Given the description of an element on the screen output the (x, y) to click on. 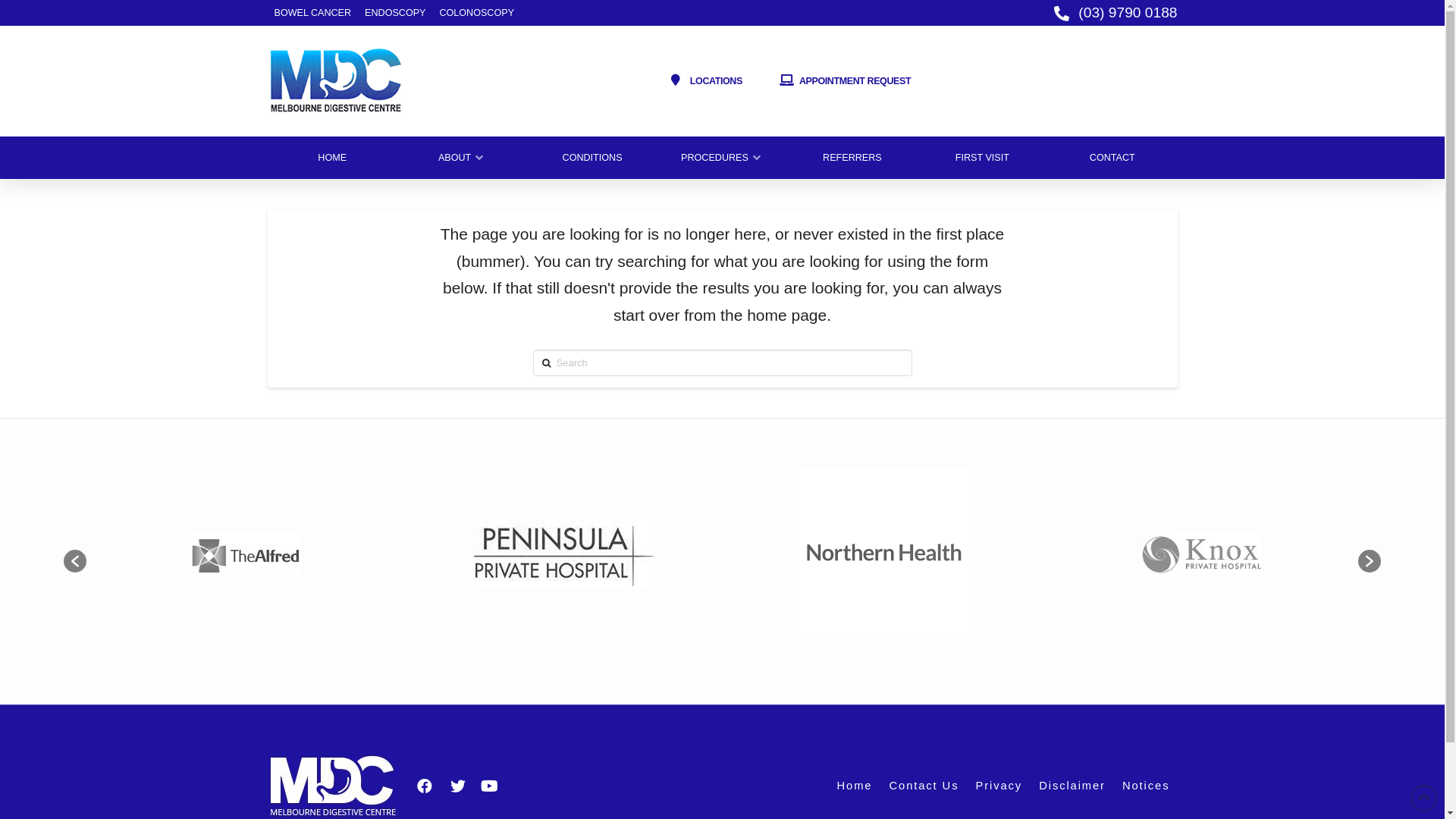
Notices Element type: text (1145, 785)
(03) 9790 0188 Element type: text (1110, 12)
PROCEDURES Element type: text (722, 157)
LOCATIONS Element type: text (705, 81)
ABOUT Element type: text (462, 157)
COLONOSCOPY Element type: text (476, 12)
BOWEL CANCER Element type: text (311, 12)
CONTACT Element type: text (1111, 158)
REFERRERS Element type: text (851, 158)
Contact Us Element type: text (923, 785)
ENDOSCOPY Element type: text (394, 12)
Privacy Element type: text (998, 785)
CONDITIONS Element type: text (591, 158)
Disclaimer Element type: text (1071, 785)
Home Element type: text (854, 785)
APPOINTMENT REQUEST Element type: text (844, 81)
FIRST VISIT Element type: text (982, 158)
HOME Element type: text (331, 158)
Back to Top Element type: hover (1423, 797)
